Given the description of an element on the screen output the (x, y) to click on. 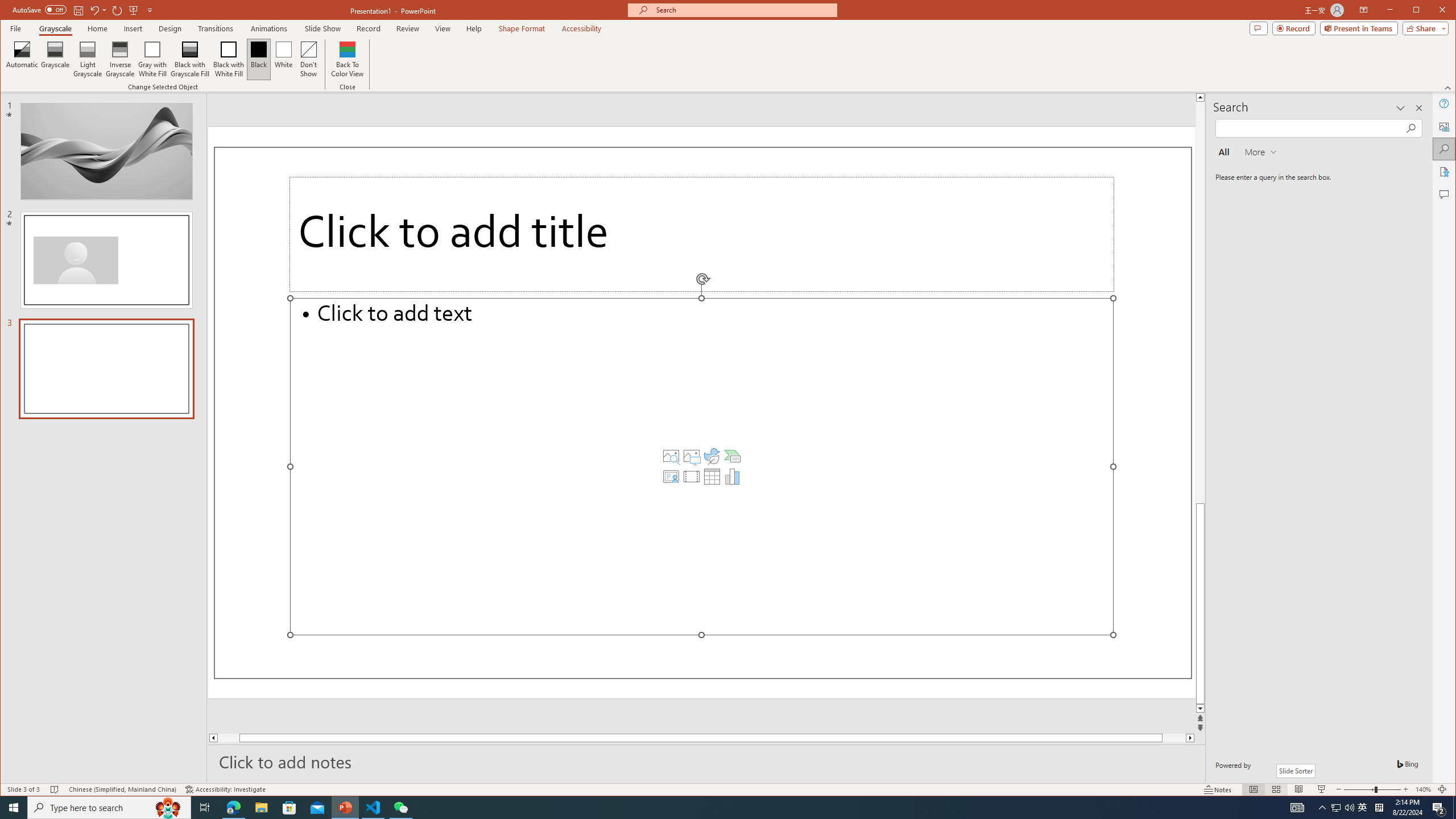
Light Grayscale (87, 59)
Black (258, 59)
Black with White Fill (229, 59)
Zoom 140% (1422, 789)
